Given the description of an element on the screen output the (x, y) to click on. 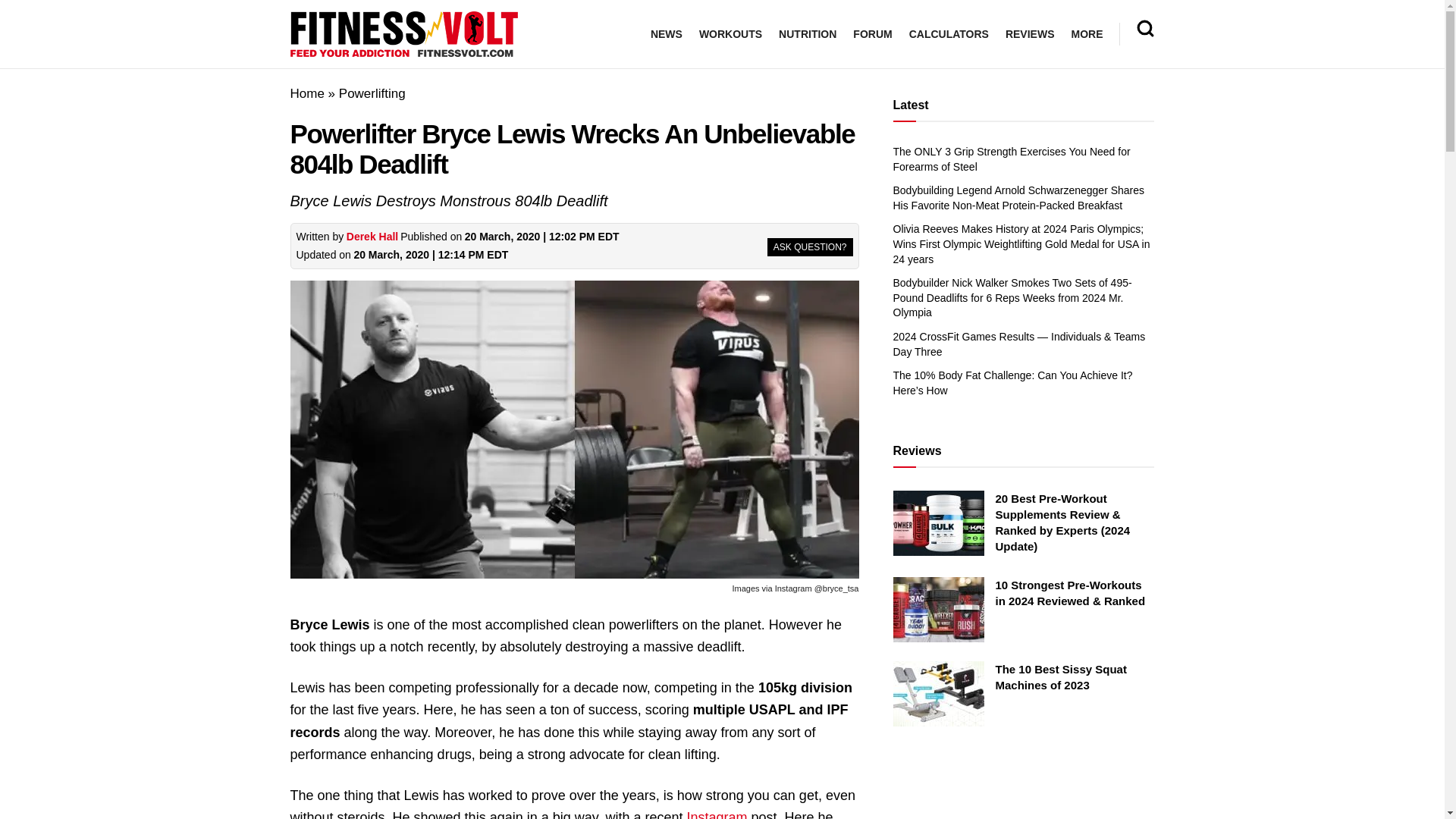
CALCULATORS (948, 34)
MORE (1086, 34)
FORUM (872, 34)
WORKOUTS (729, 34)
NUTRITION (806, 34)
NEWS (666, 34)
REVIEWS (1030, 34)
